Given the description of an element on the screen output the (x, y) to click on. 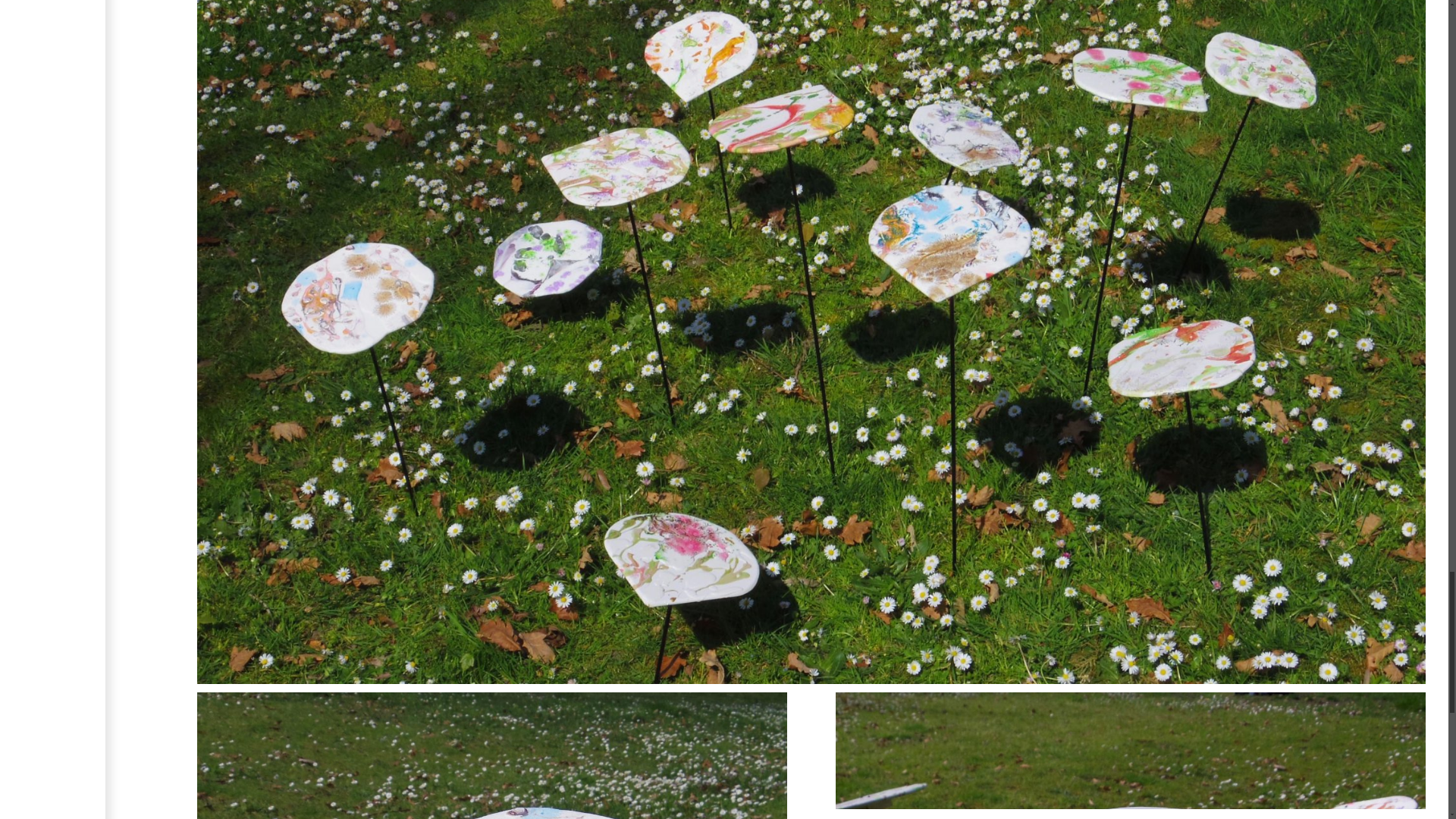
ONE CERAMIC AND FIBERGLASS FLOWERS PINK (1130, 755)
One CERAMIC FLOWERS BLUE (491, 755)
